Given the description of an element on the screen output the (x, y) to click on. 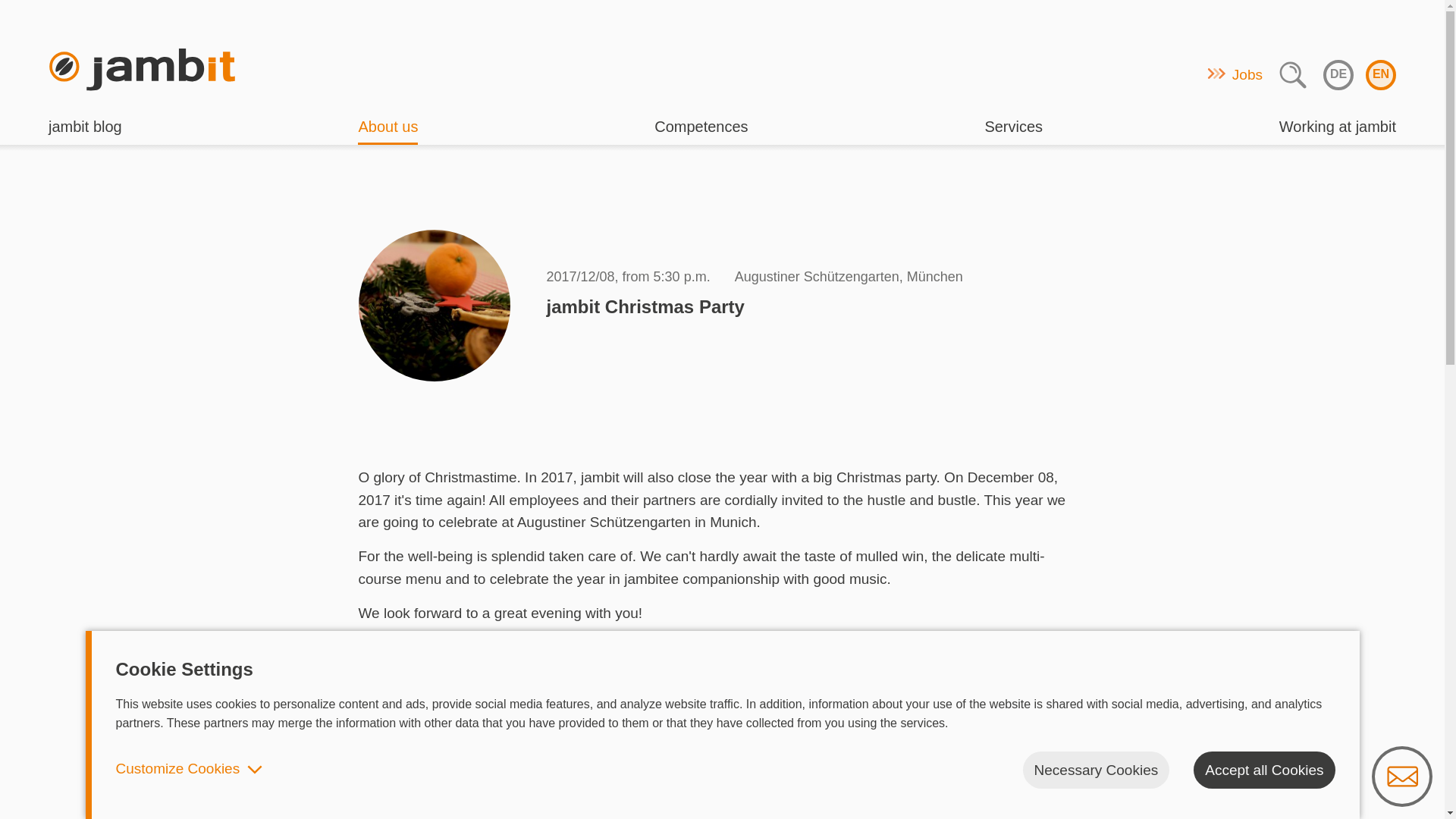
Competences (700, 129)
DE (1338, 74)
English (1380, 74)
jambit blog (85, 129)
EN (1380, 74)
Services (1013, 129)
About us (387, 129)
Jobs (1246, 75)
Deutsch (1338, 74)
